Given the description of an element on the screen output the (x, y) to click on. 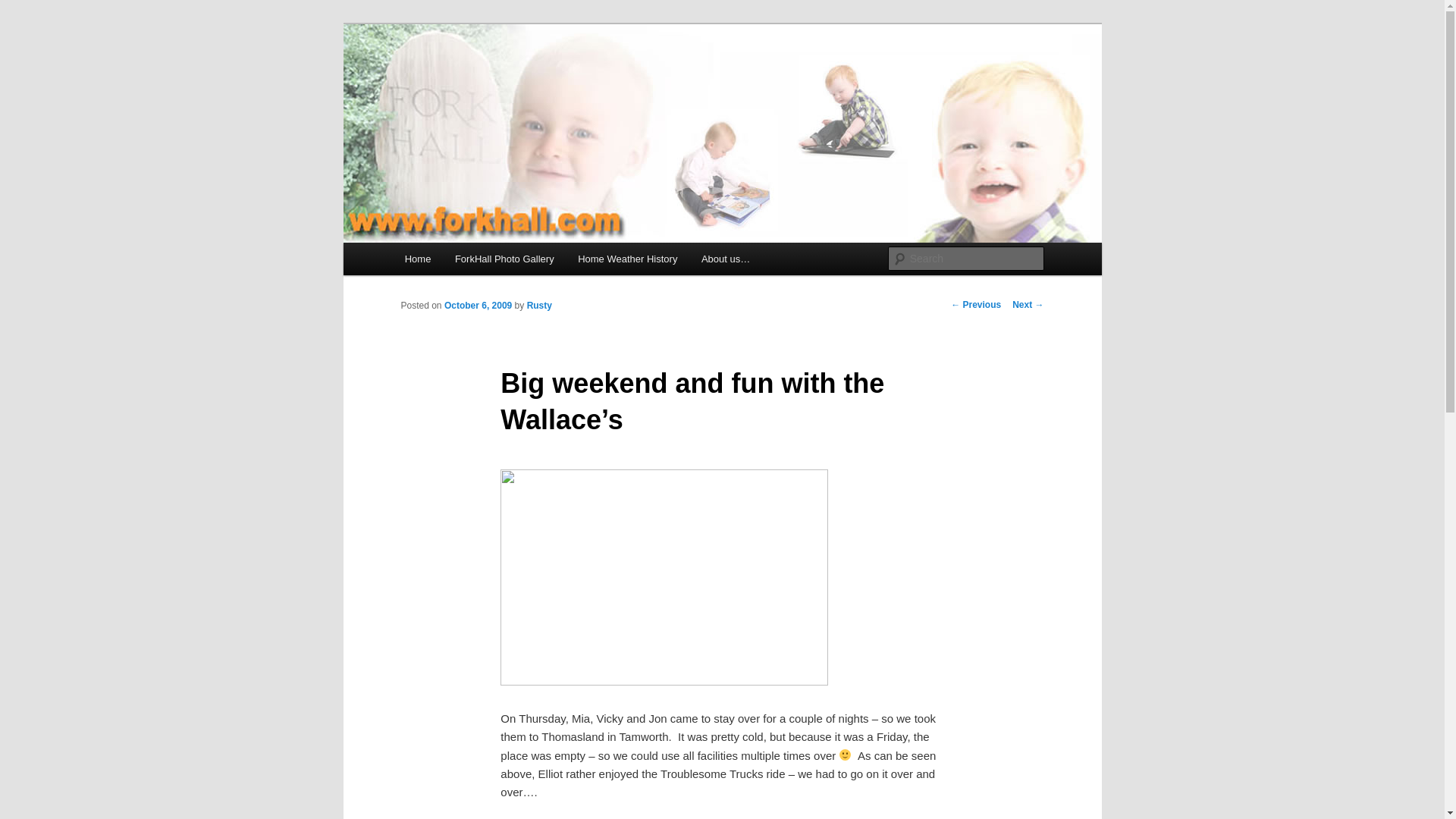
KirkbyGrange.com (502, 78)
October 6, 2009 (478, 305)
Home (417, 258)
ForkHall Photo Gallery (504, 258)
09:37 (478, 305)
View all posts by Rusty (539, 305)
Home Weather History (627, 258)
Search (24, 8)
Rusty (539, 305)
